Given the description of an element on the screen output the (x, y) to click on. 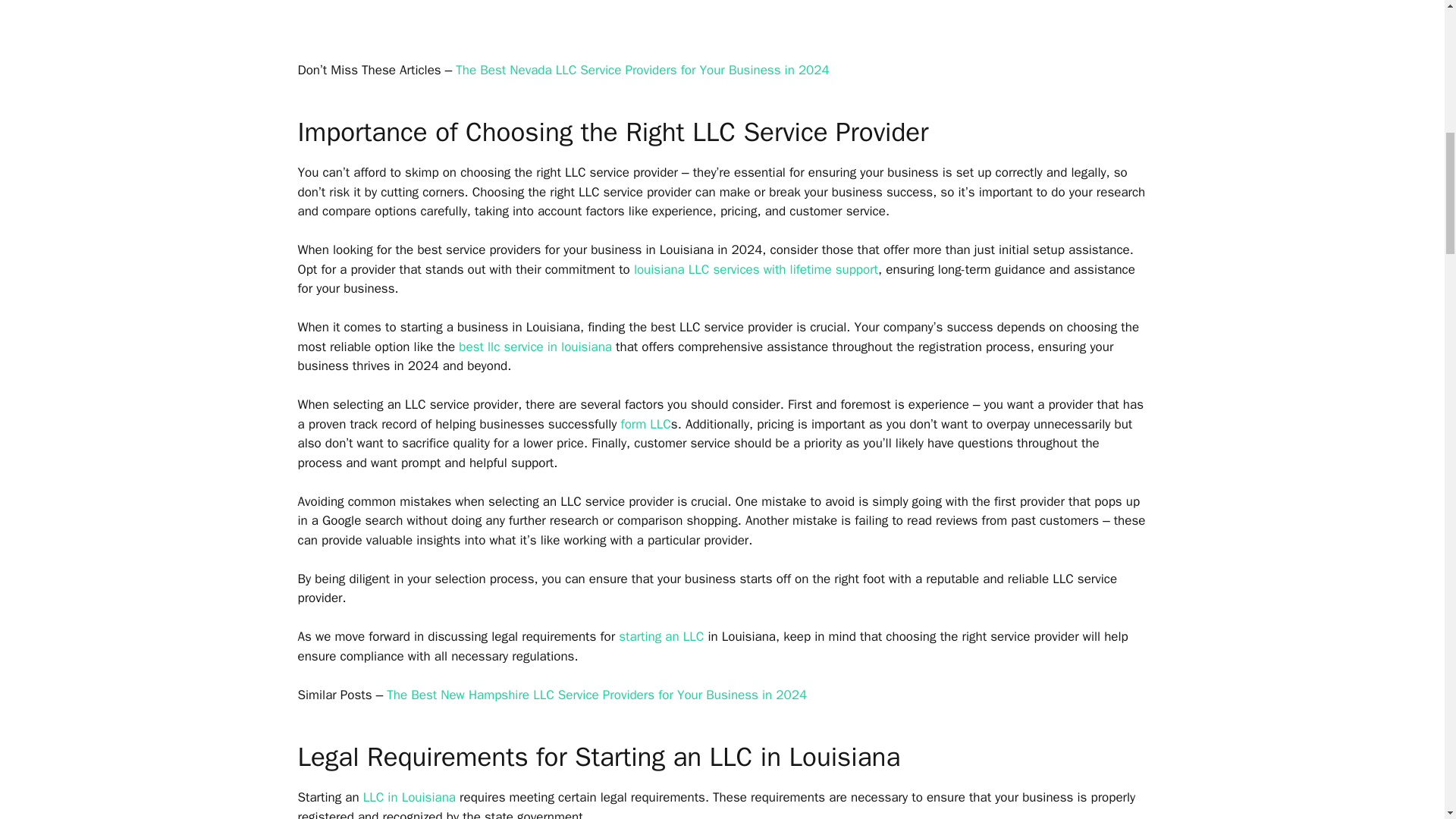
LLC in Louisiana (408, 797)
How to Make an LLC in 2024 - A Step-by-Step Guide (646, 424)
How to Make an LLC in 2024 - A Step-by-Step Guide (660, 636)
louisiana LLC services with lifetime support (755, 269)
form LLC (646, 424)
best llc service in louisiana (534, 346)
